Given the description of an element on the screen output the (x, y) to click on. 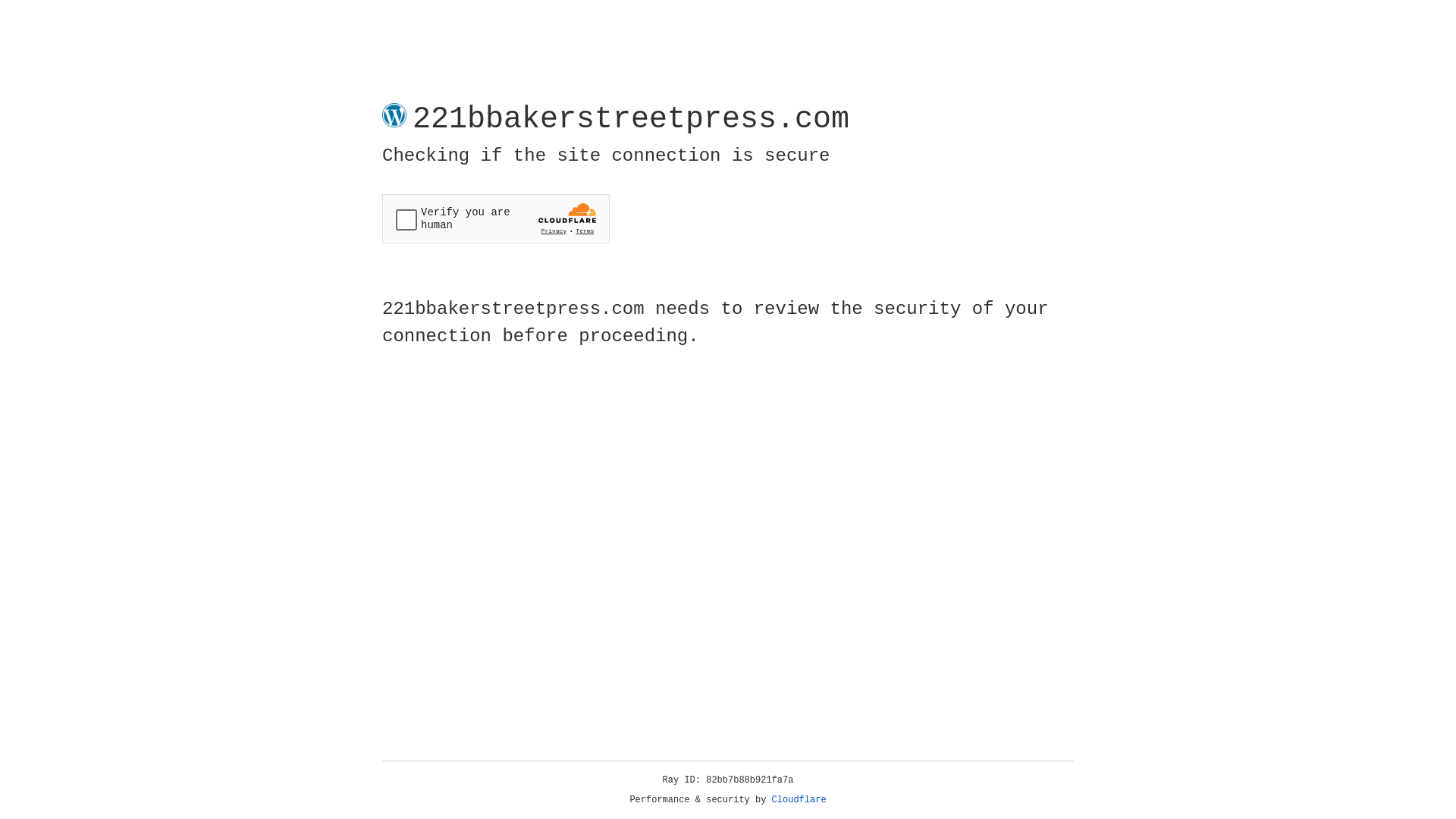
Widget containing a Cloudflare security challenge Element type: hover (495, 218)
Cloudflare Element type: text (798, 799)
